Given the description of an element on the screen output the (x, y) to click on. 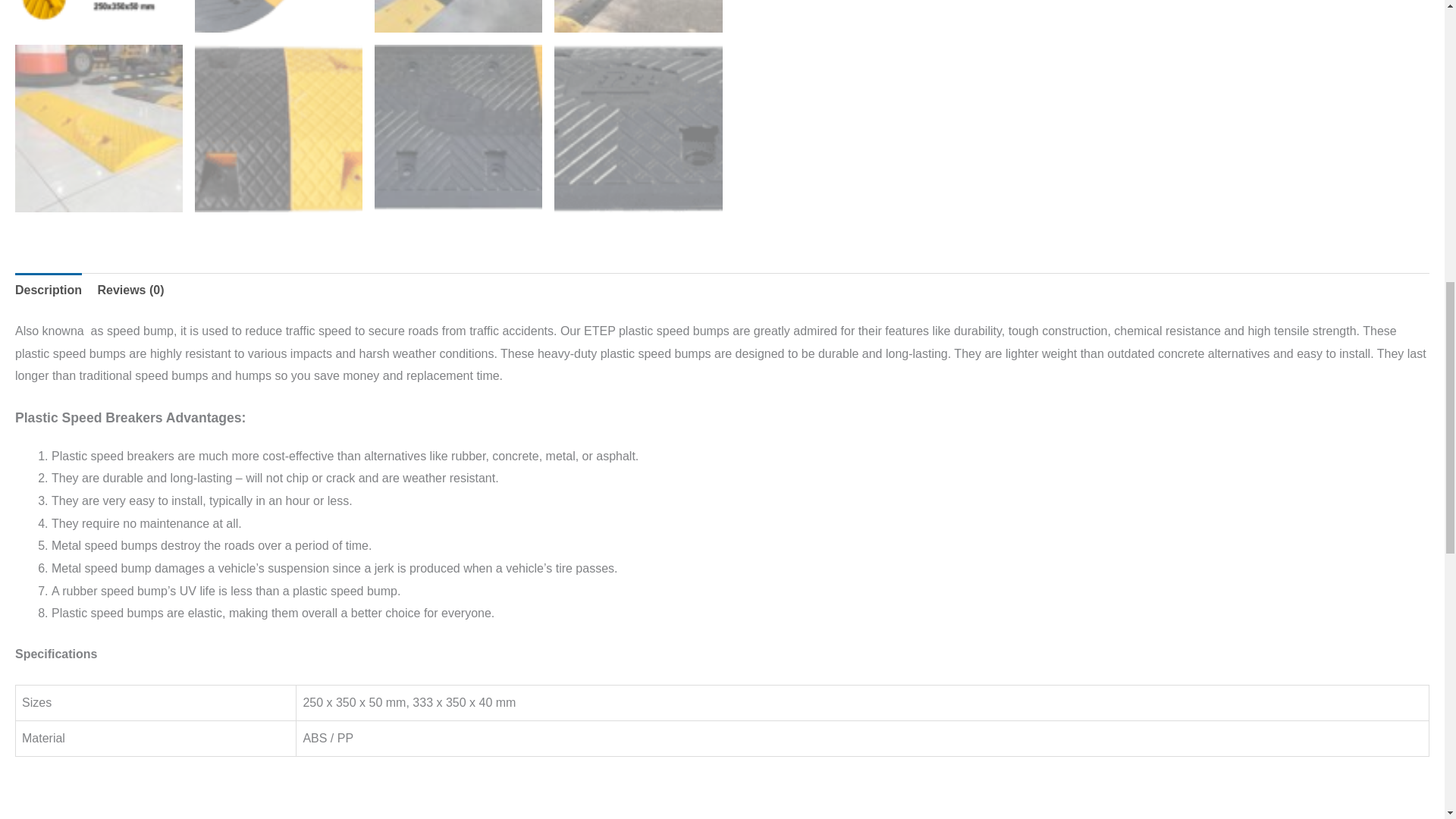
Description (47, 289)
